Given the description of an element on the screen output the (x, y) to click on. 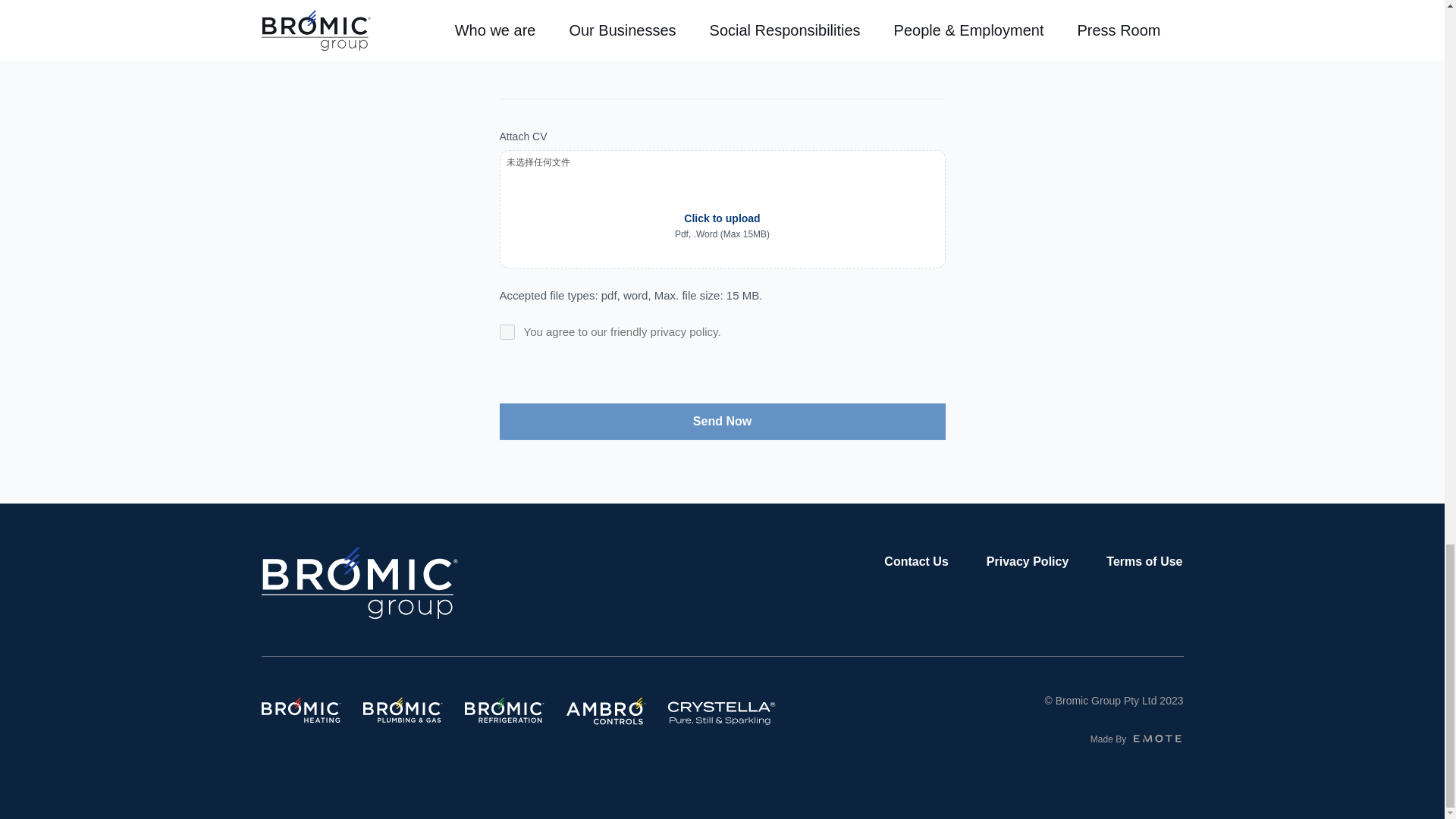
You agree to our friendly privacy policy. (506, 331)
Terms of Use (1144, 561)
Privacy Policy (1027, 561)
Send Now (721, 421)
Send Now (721, 421)
Contact Us (915, 561)
